Given the description of an element on the screen output the (x, y) to click on. 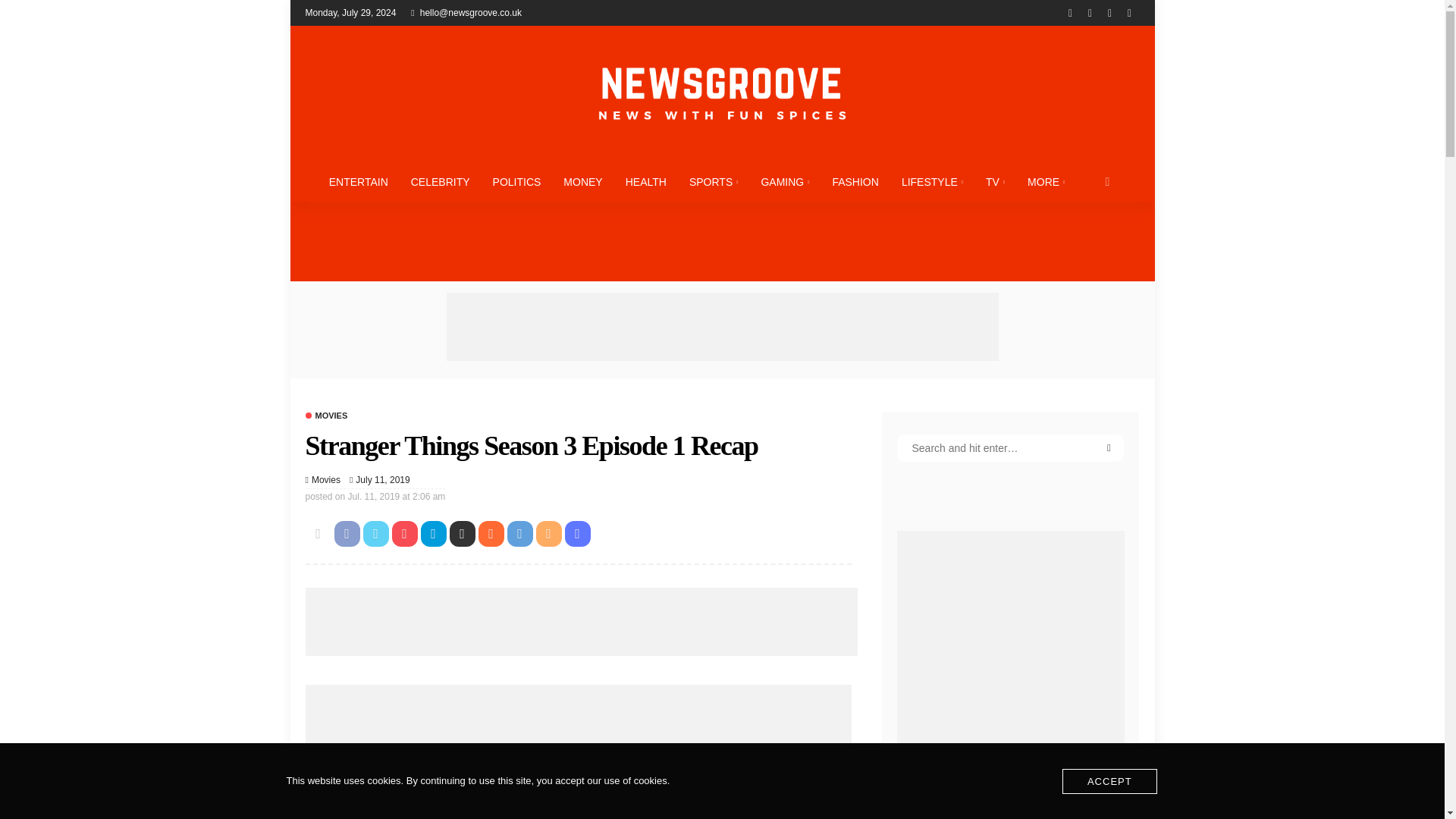
NewsGroove Uk (721, 93)
MONEY (581, 181)
Advertisement (580, 622)
HEALTH (646, 181)
CELEBRITY (439, 181)
Movies (325, 415)
SPORTS (713, 181)
Movies (325, 479)
ENTERTAIN (357, 181)
POLITICS (517, 181)
search (1106, 181)
Advertisement (721, 326)
GAMING (785, 181)
